Given the description of an element on the screen output the (x, y) to click on. 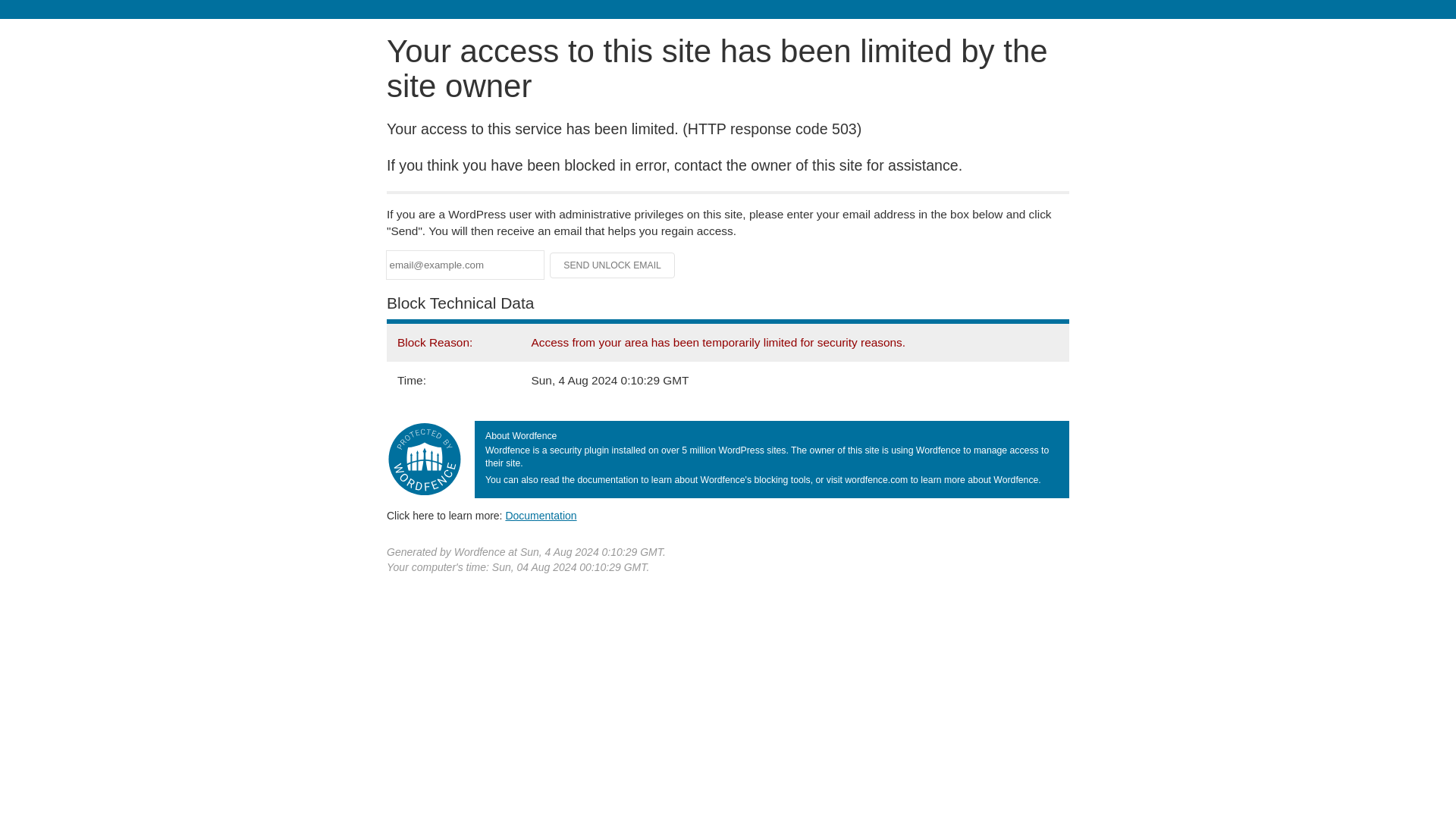
Send Unlock Email (612, 265)
Send Unlock Email (612, 265)
Documentation (540, 515)
